Given the description of an element on the screen output the (x, y) to click on. 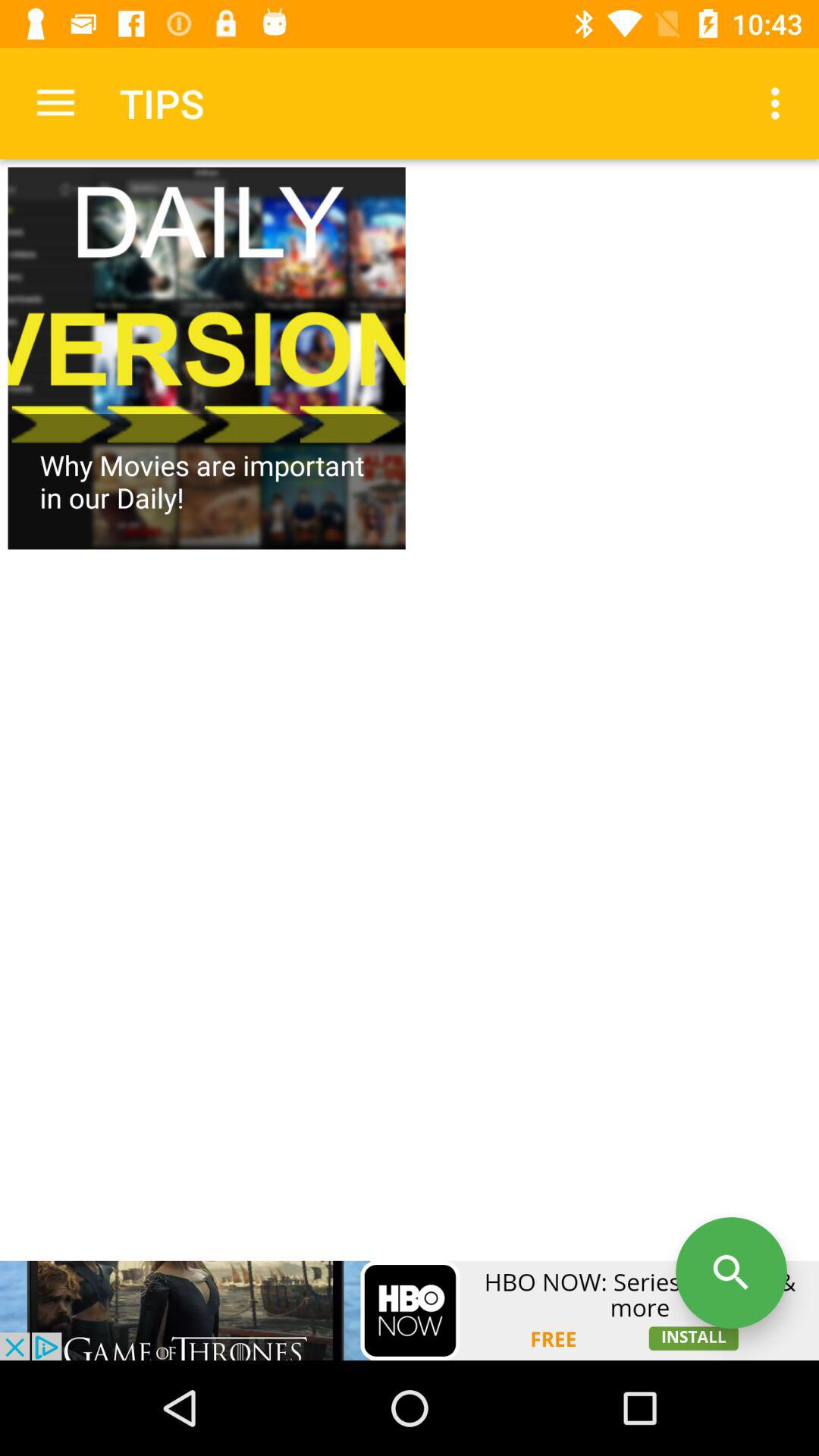
click to search (731, 1272)
